Given the description of an element on the screen output the (x, y) to click on. 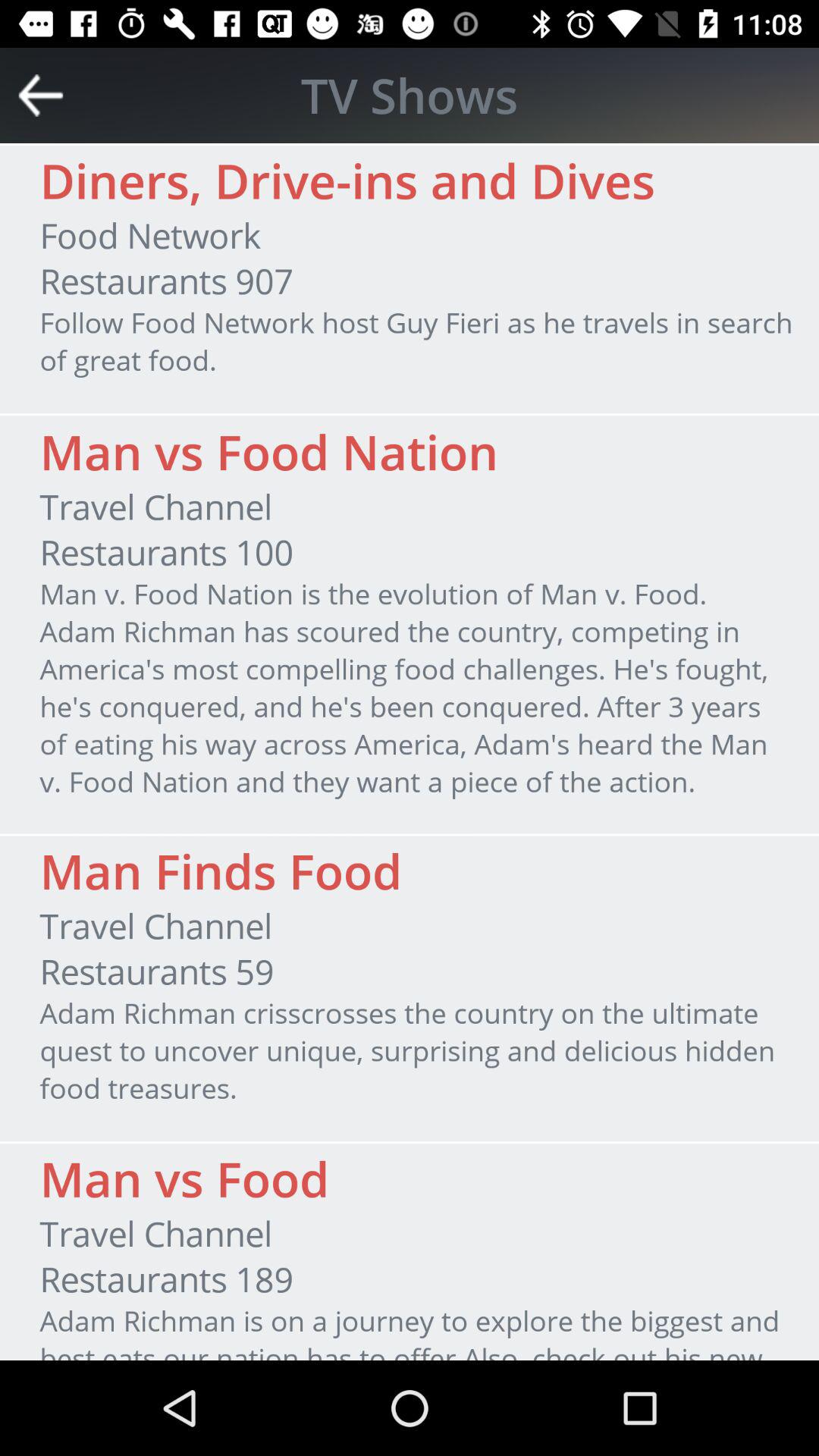
click the item below tv shows item (347, 180)
